Given the description of an element on the screen output the (x, y) to click on. 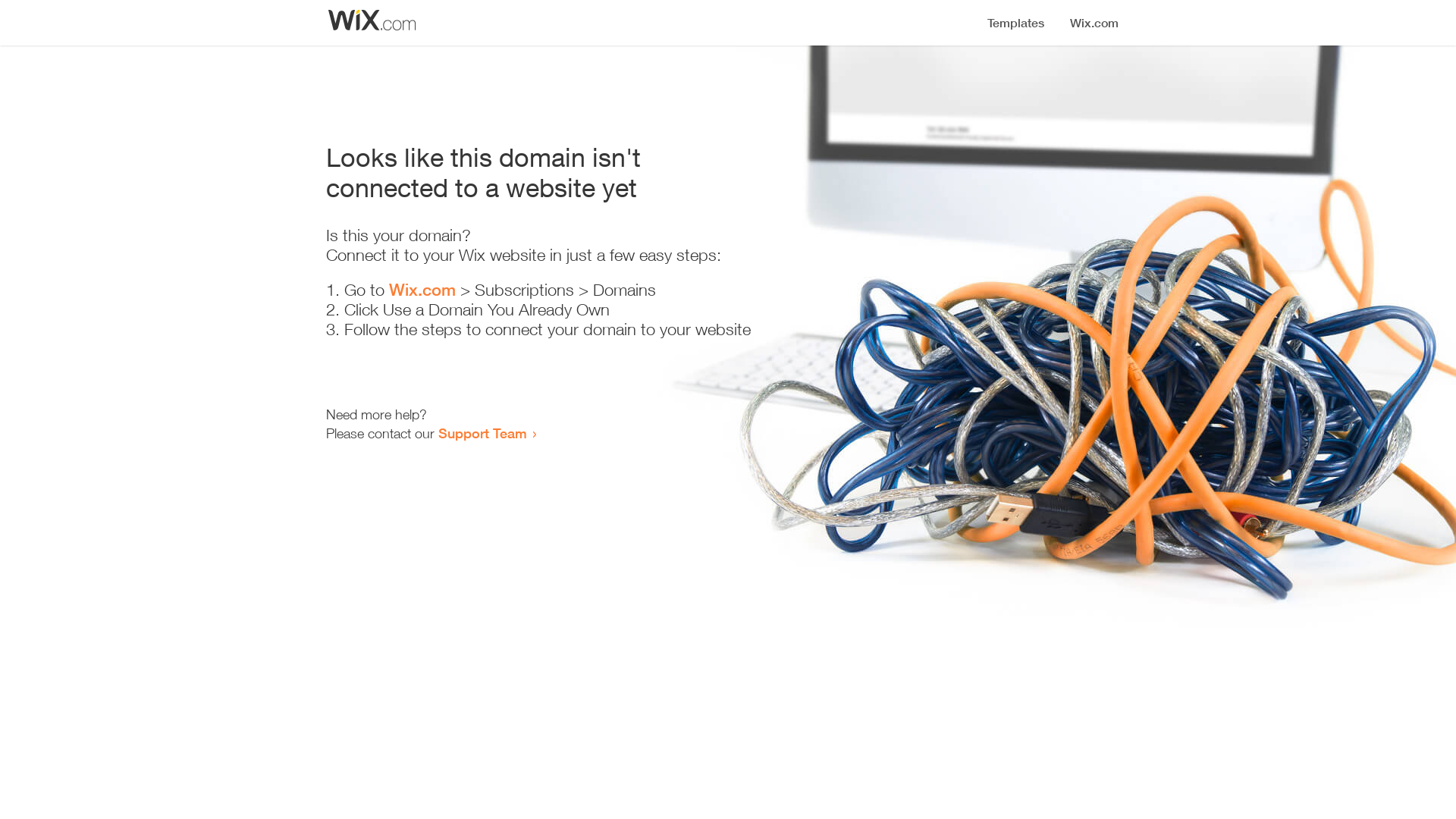
Support Team Element type: text (482, 432)
Wix.com Element type: text (422, 289)
